Given the description of an element on the screen output the (x, y) to click on. 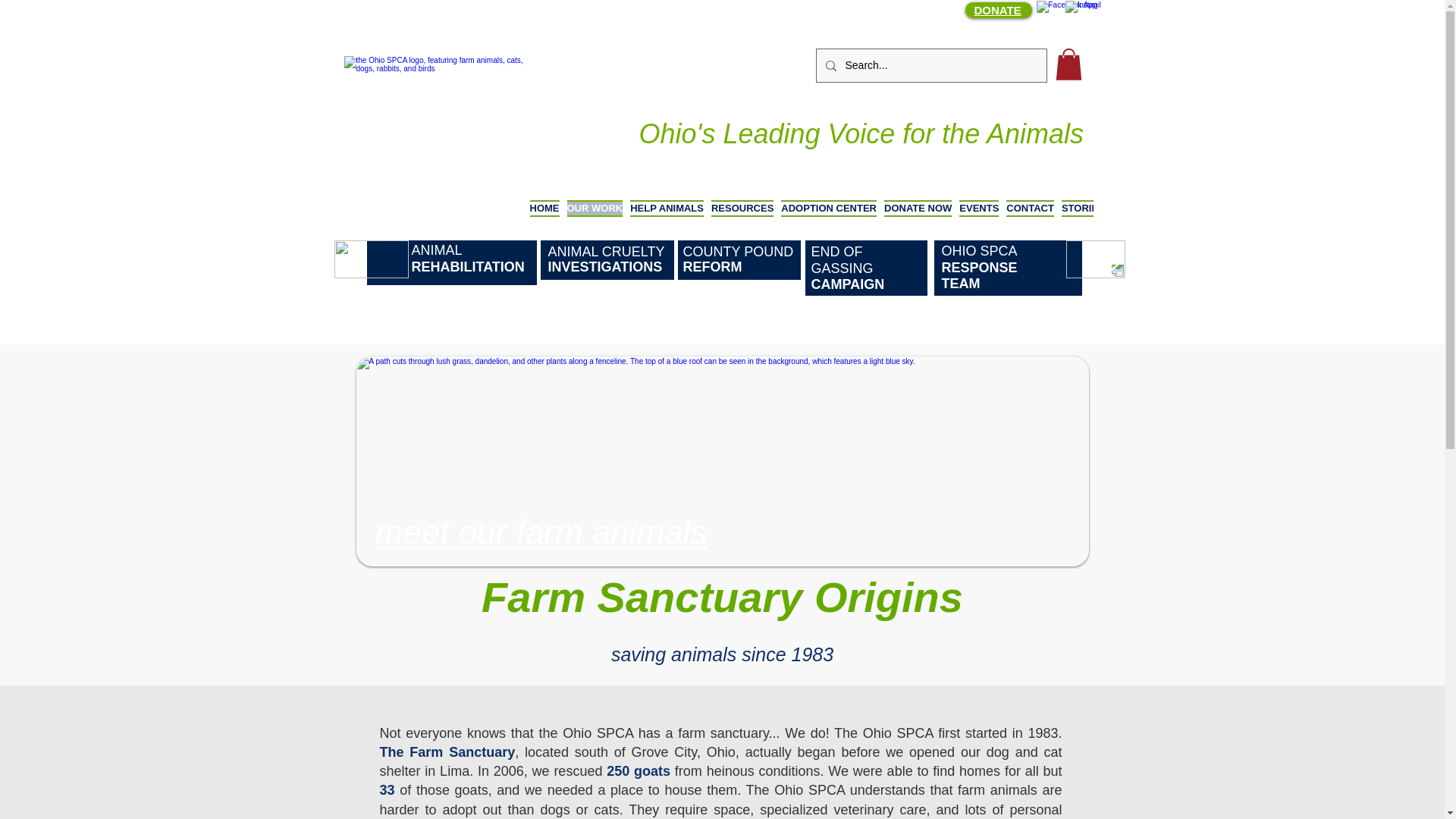
HELP ANIMALS (666, 218)
ADOPTION CENTER (828, 218)
OUR WORK (594, 218)
RESOURCES (742, 218)
DONATE NOW (917, 218)
EVENTS (979, 218)
HOME (545, 218)
CONTACT (1030, 218)
DONATE (997, 10)
